Given the description of an element on the screen output the (x, y) to click on. 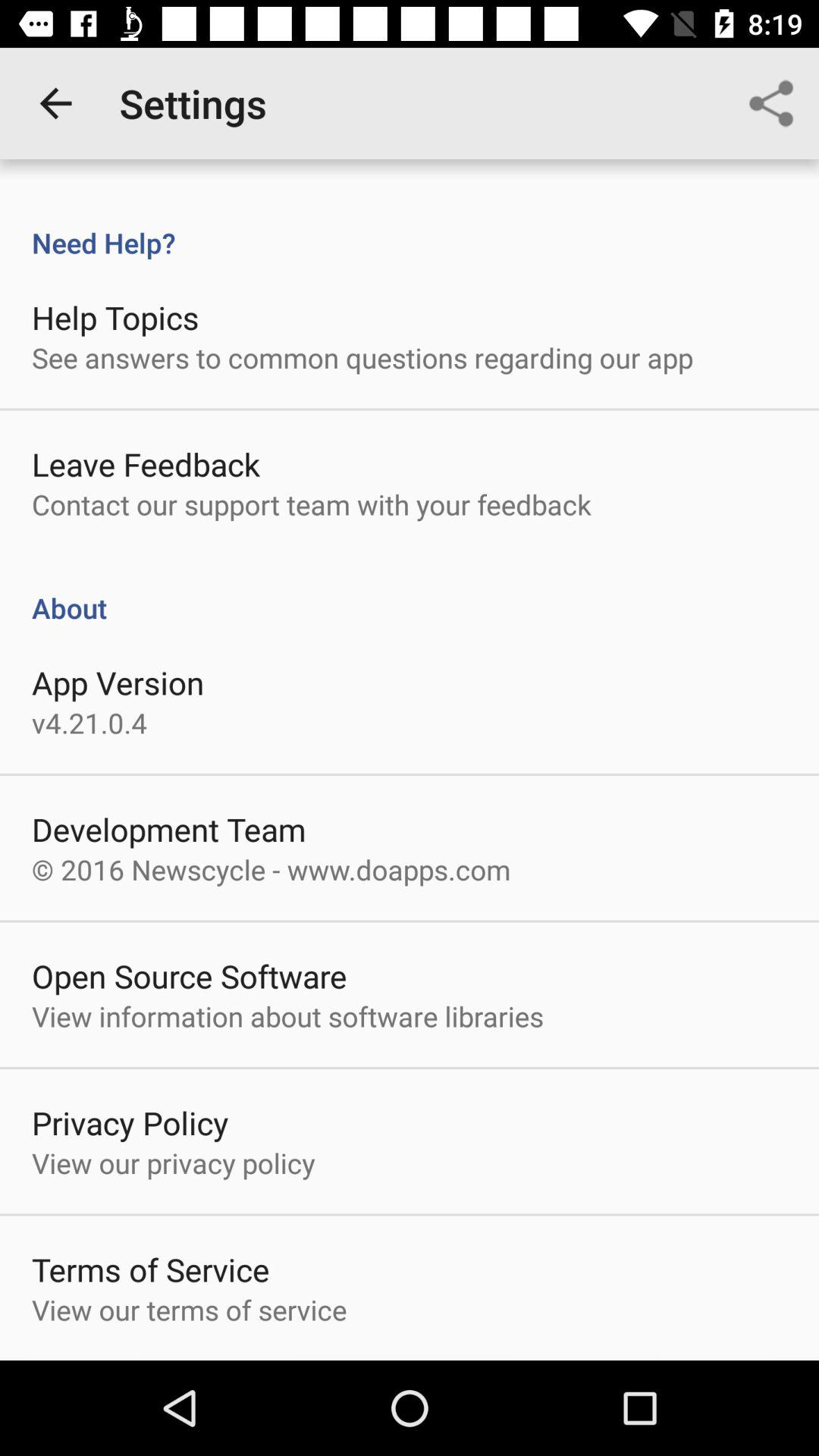
launch the see answers to (362, 357)
